Given the description of an element on the screen output the (x, y) to click on. 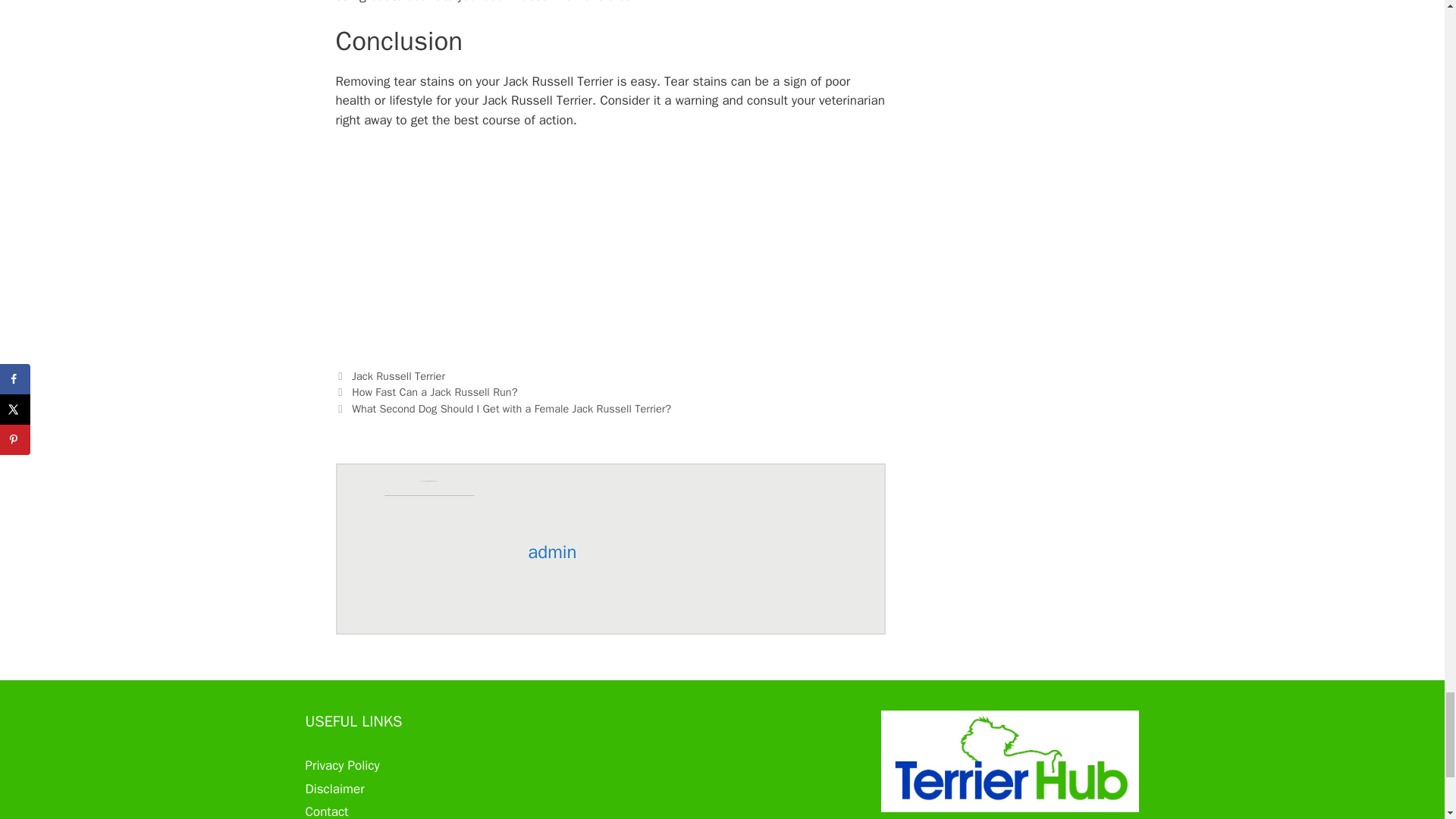
How Fast Can a Jack Russell Run? (434, 391)
Privacy Policy (341, 765)
admin (551, 551)
Jack Russell Terrier (398, 376)
Author Links (551, 551)
